Given the description of an element on the screen output the (x, y) to click on. 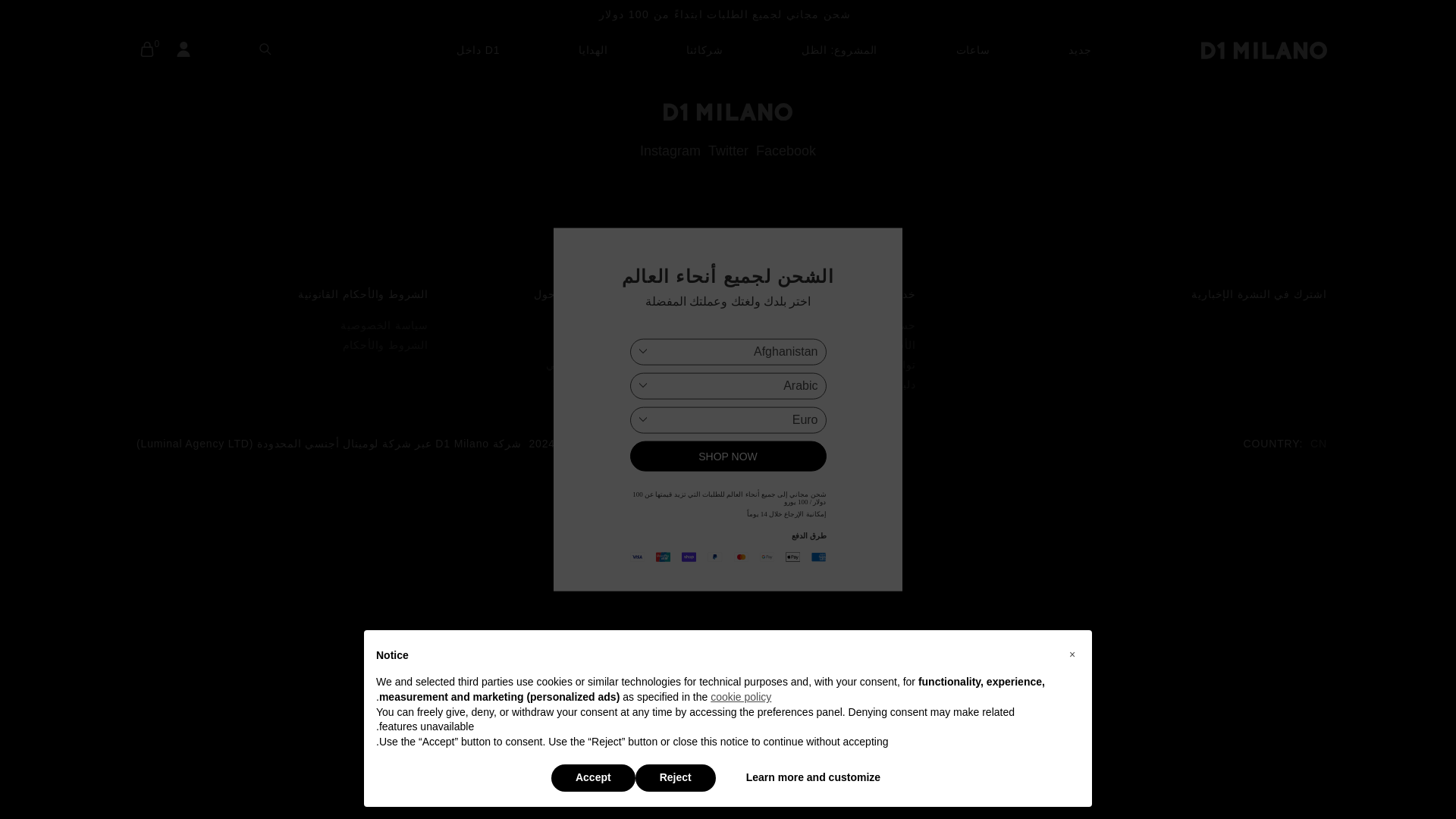
0 (147, 49)
home-page (1263, 49)
